Given the description of an element on the screen output the (x, y) to click on. 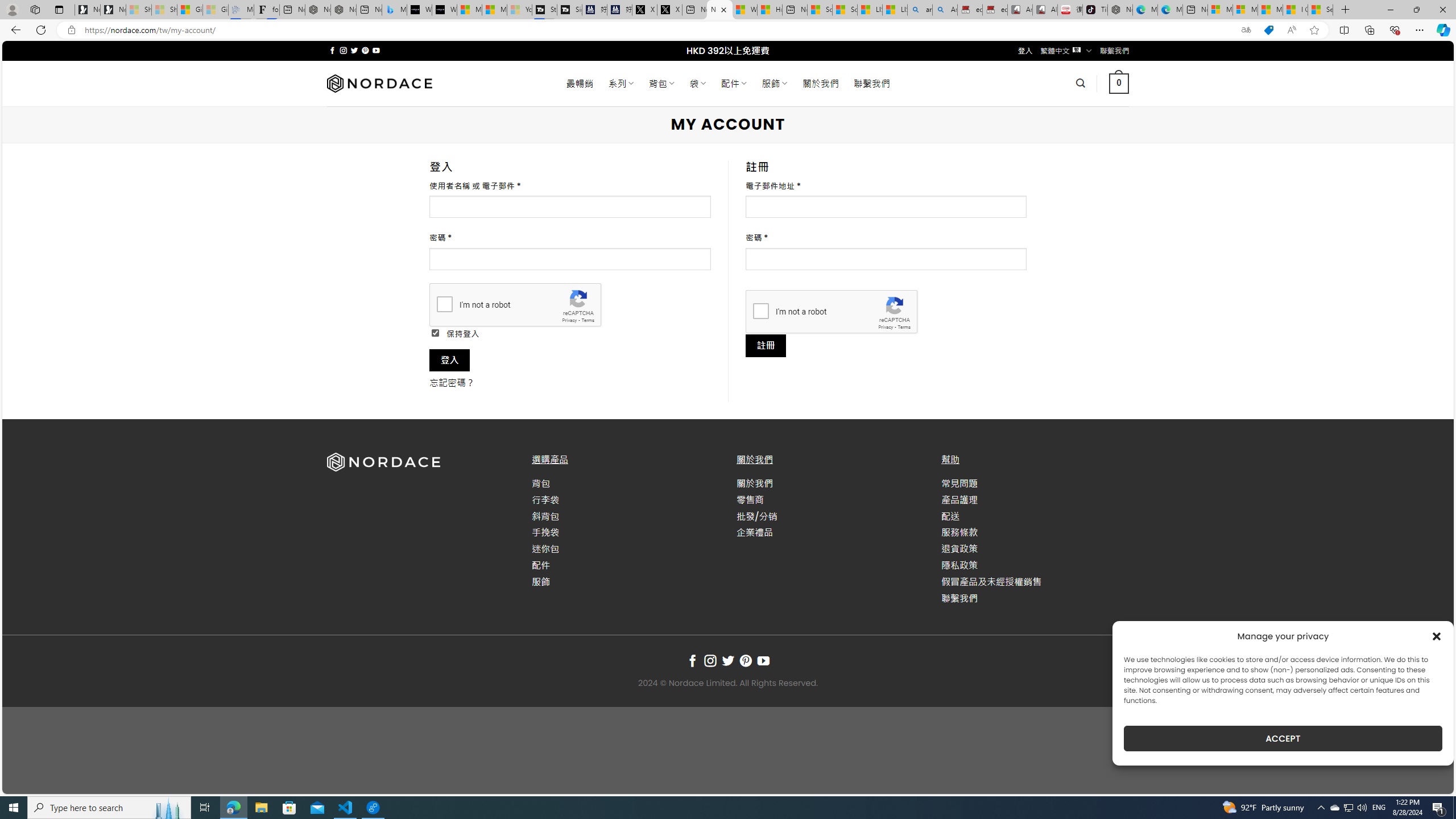
Microsoft Start (1270, 9)
Streaming Coverage | T3 (544, 9)
Close (1442, 9)
Settings and more (Alt+F) (1419, 29)
